Given the description of an element on the screen output the (x, y) to click on. 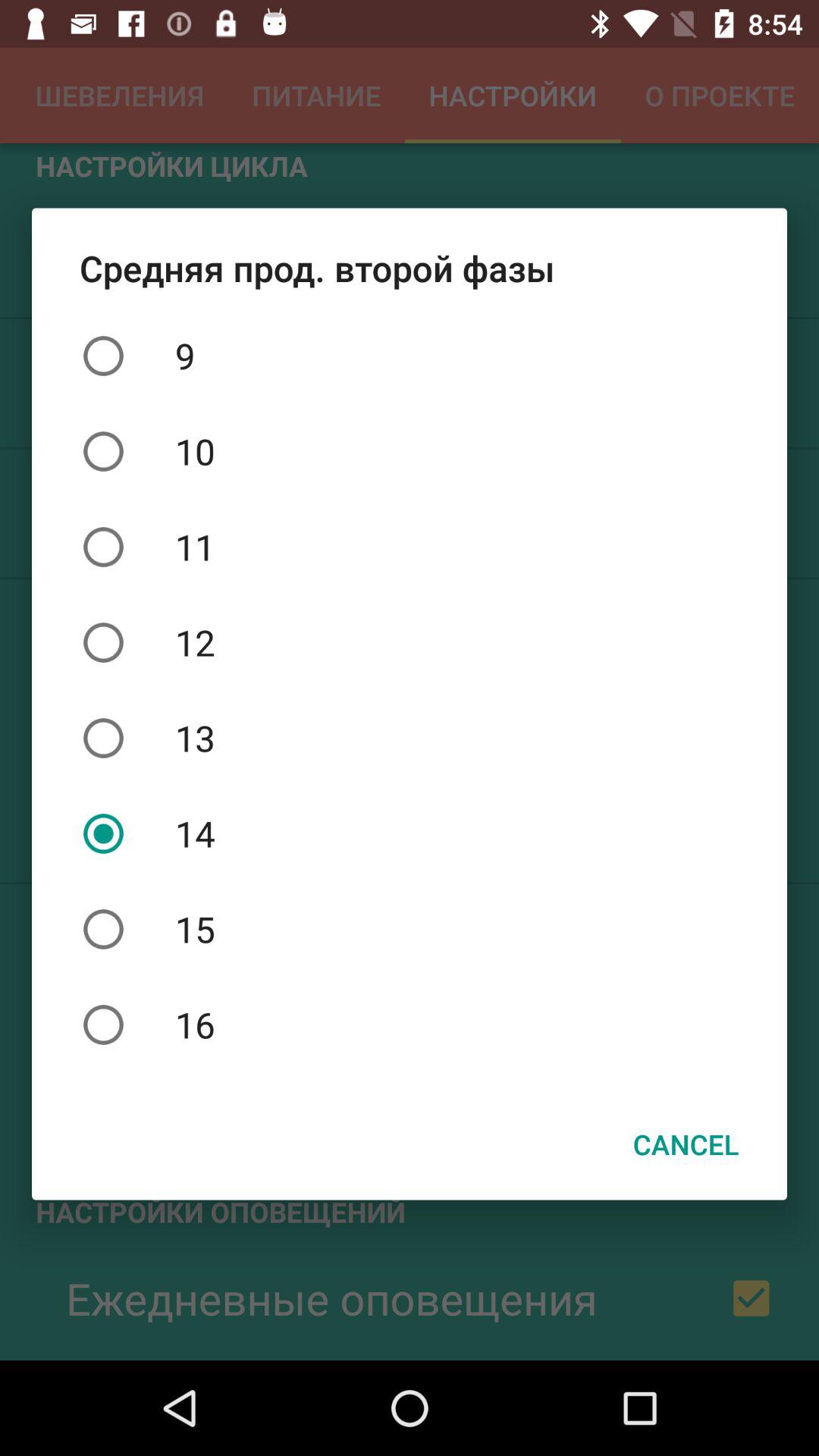
turn off the 13 (409, 738)
